Given the description of an element on the screen output the (x, y) to click on. 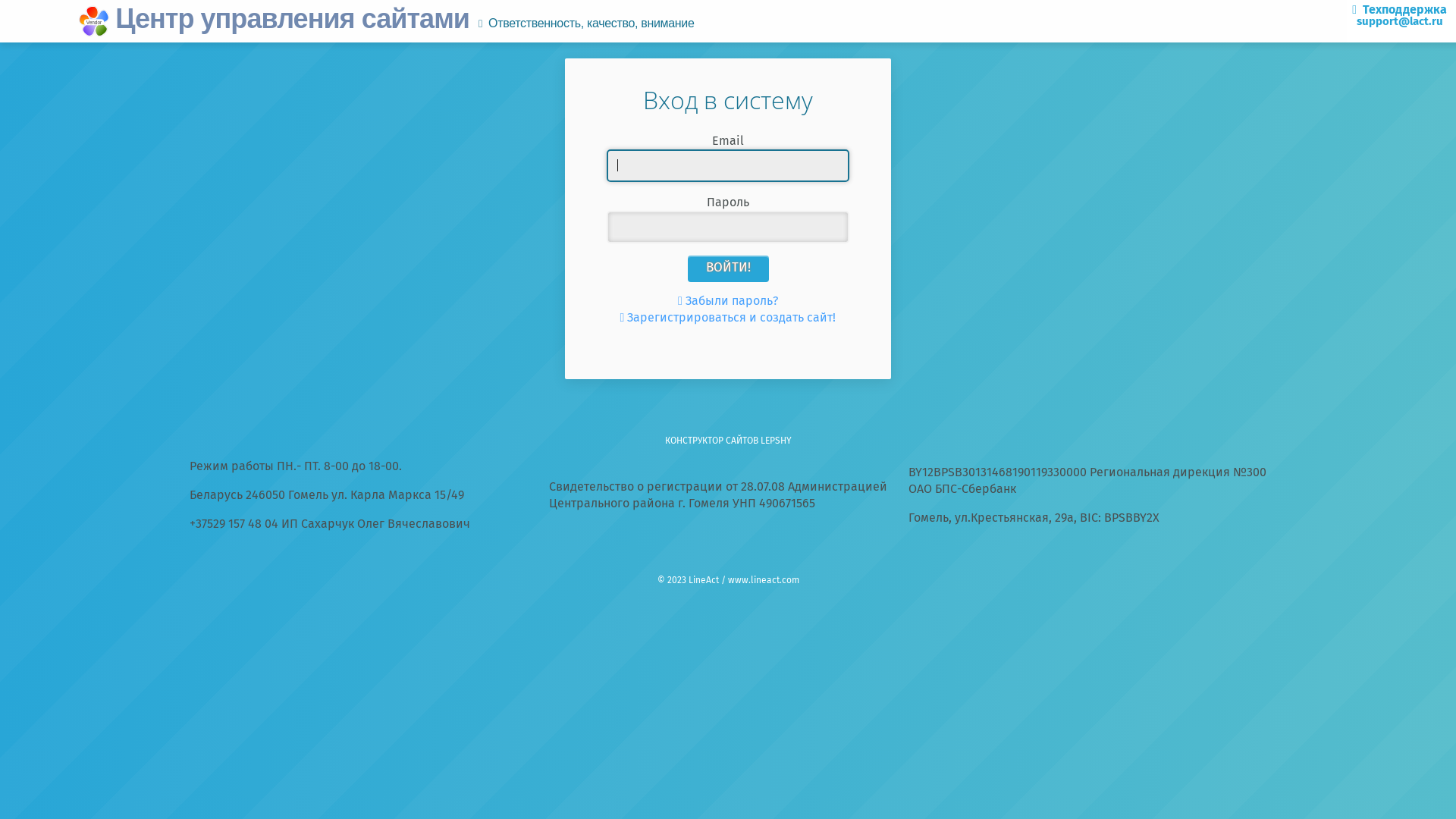
LineAct / www.lineact.com Element type: text (743, 580)
LiveInternet Element type: hover (727, 553)
